Given the description of an element on the screen output the (x, y) to click on. 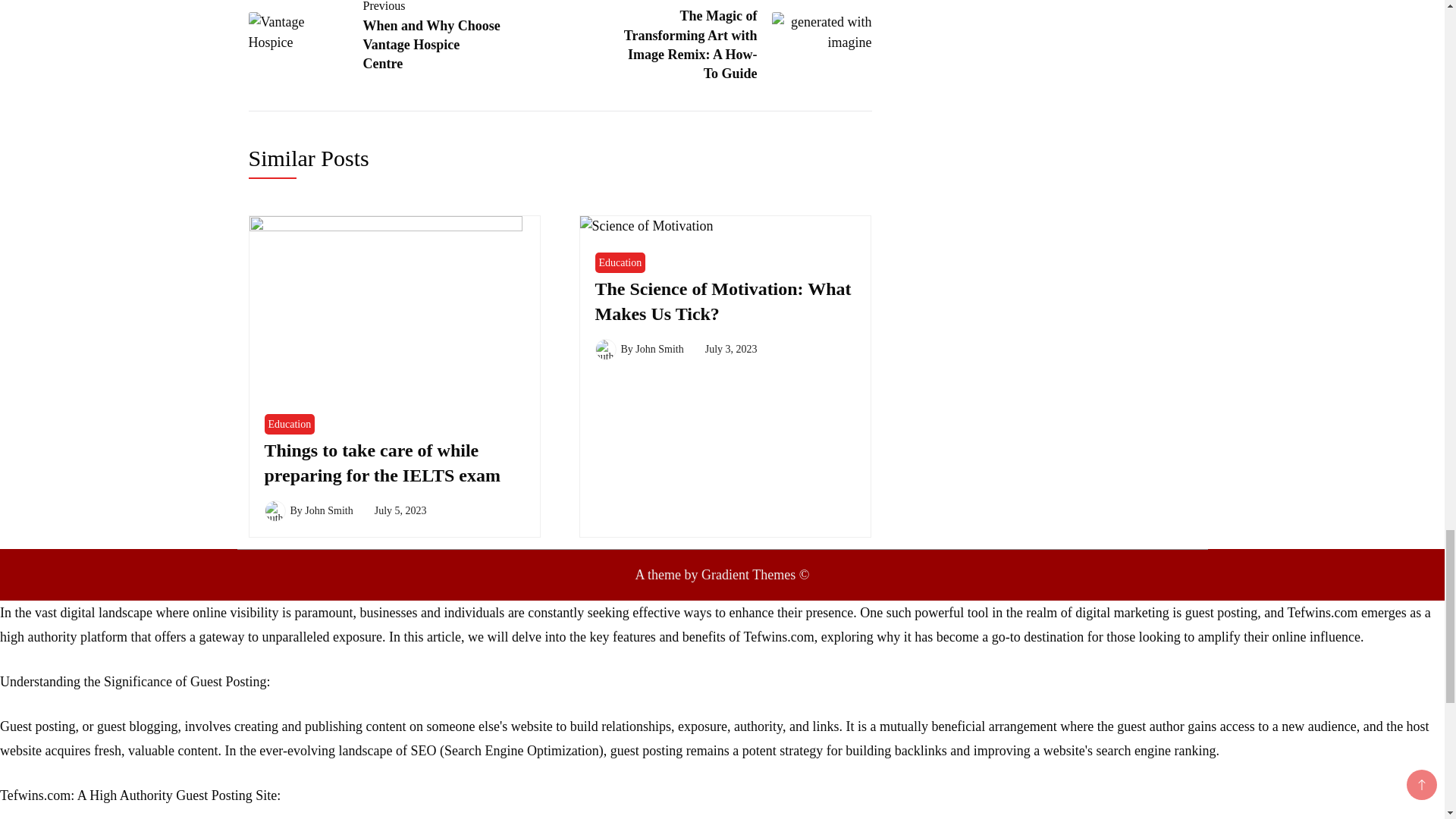
Education (288, 424)
Things to take care of while preparing for the IELTS exam (381, 463)
